Given the description of an element on the screen output the (x, y) to click on. 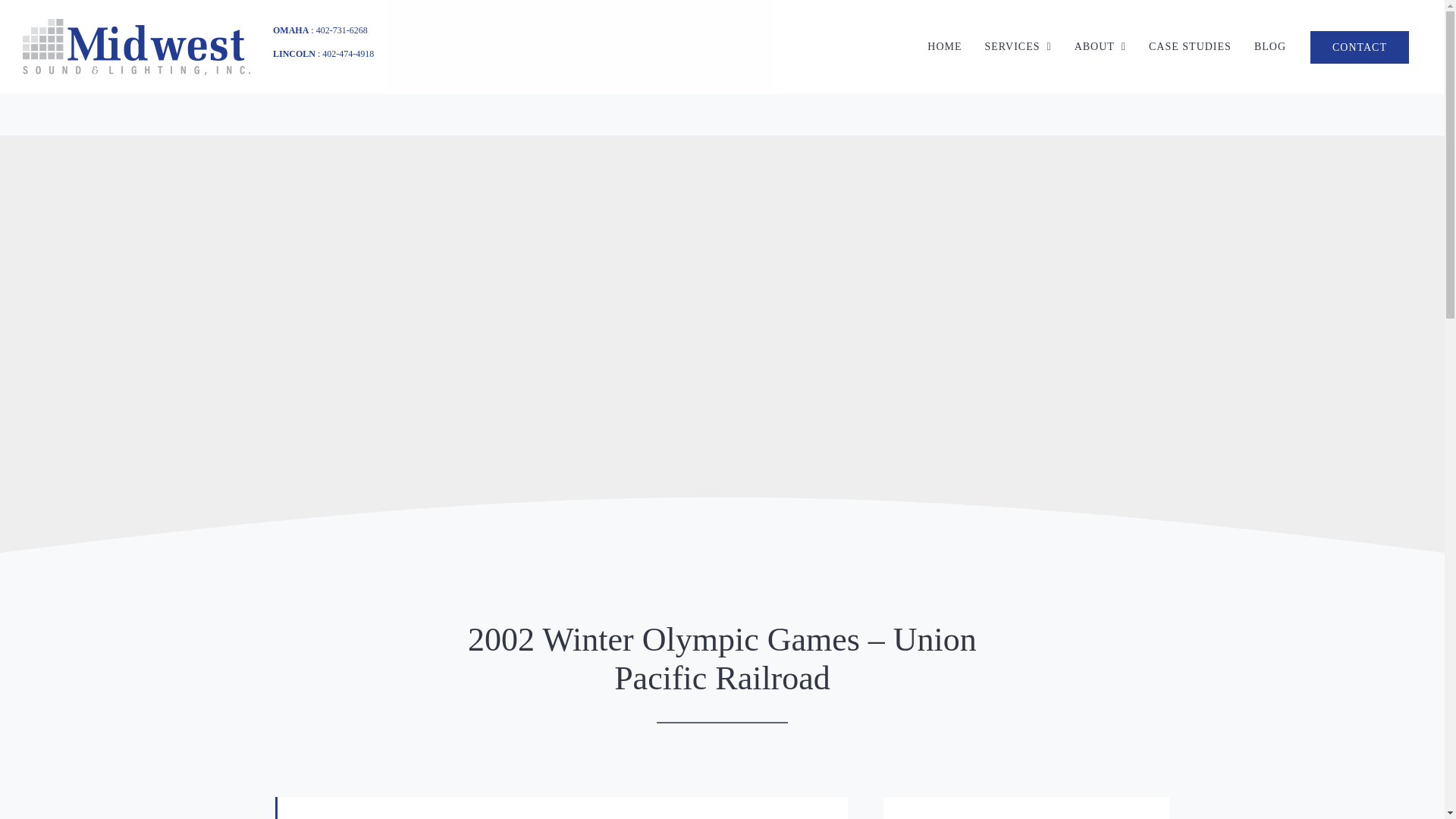
SERVICES (1018, 47)
HOME (943, 47)
402-731-6268 (341, 30)
ABOUT (1099, 47)
CASE STUDIES (1190, 47)
BLOG (1270, 47)
CONTACT (1359, 47)
402-474-4918 (347, 53)
